Given the description of an element on the screen output the (x, y) to click on. 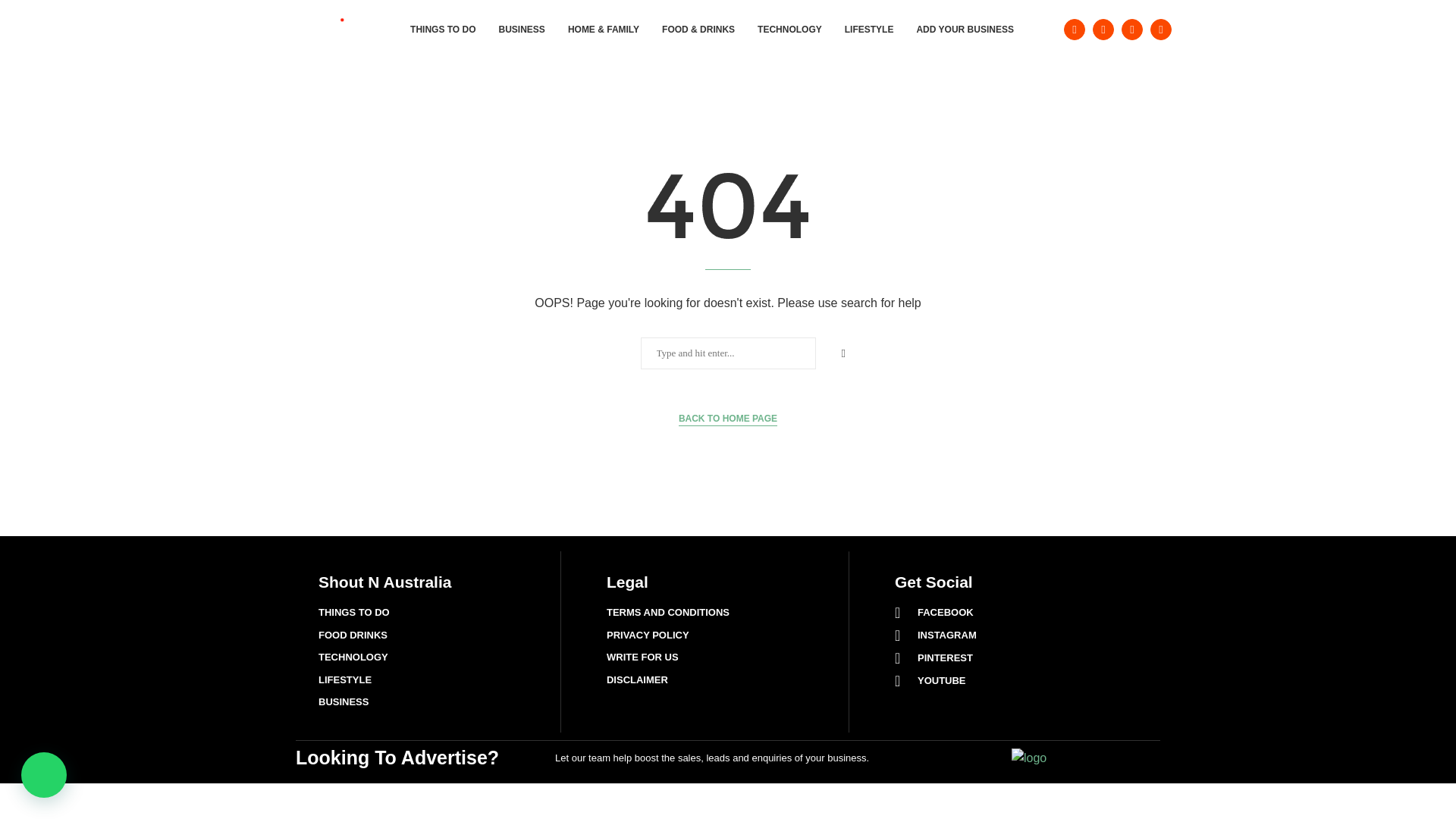
THINGS TO DO (443, 29)
logo (1028, 758)
Search (35, 15)
LIFESTYLE (868, 29)
BACK TO HOME PAGE (727, 418)
TECHNOLOGY (789, 29)
ADD YOUR BUSINESS (964, 29)
BUSINESS (521, 29)
